Given the description of an element on the screen output the (x, y) to click on. 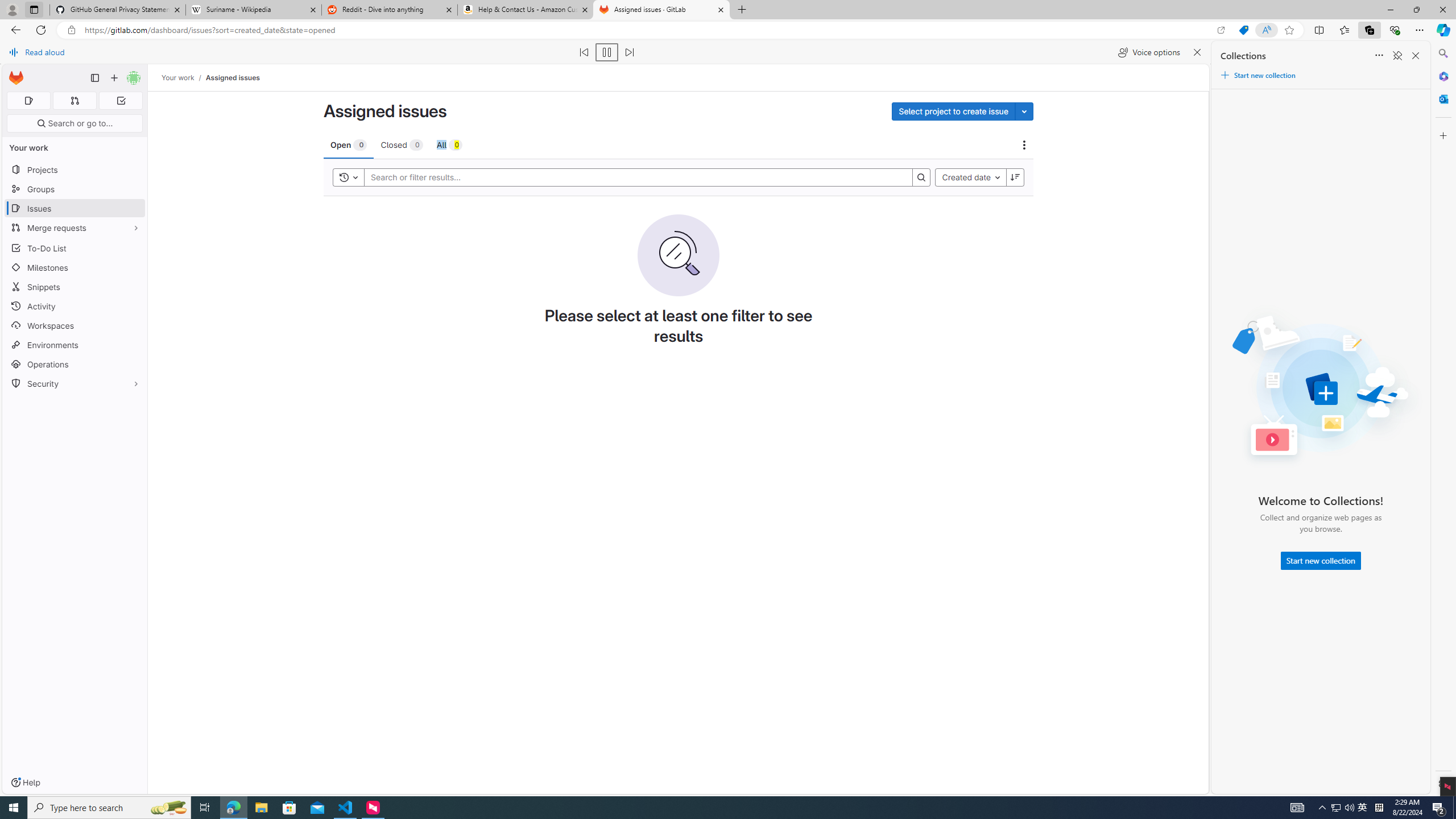
Snippets (74, 286)
Operations (74, 363)
To-Do List (74, 248)
Activity (74, 305)
Start new collection (1321, 560)
Voice options (1149, 52)
Operations (74, 363)
Assigned issues (232, 77)
Issues (74, 208)
Merge requests 0 (74, 100)
Assigned issues (232, 77)
